Given the description of an element on the screen output the (x, y) to click on. 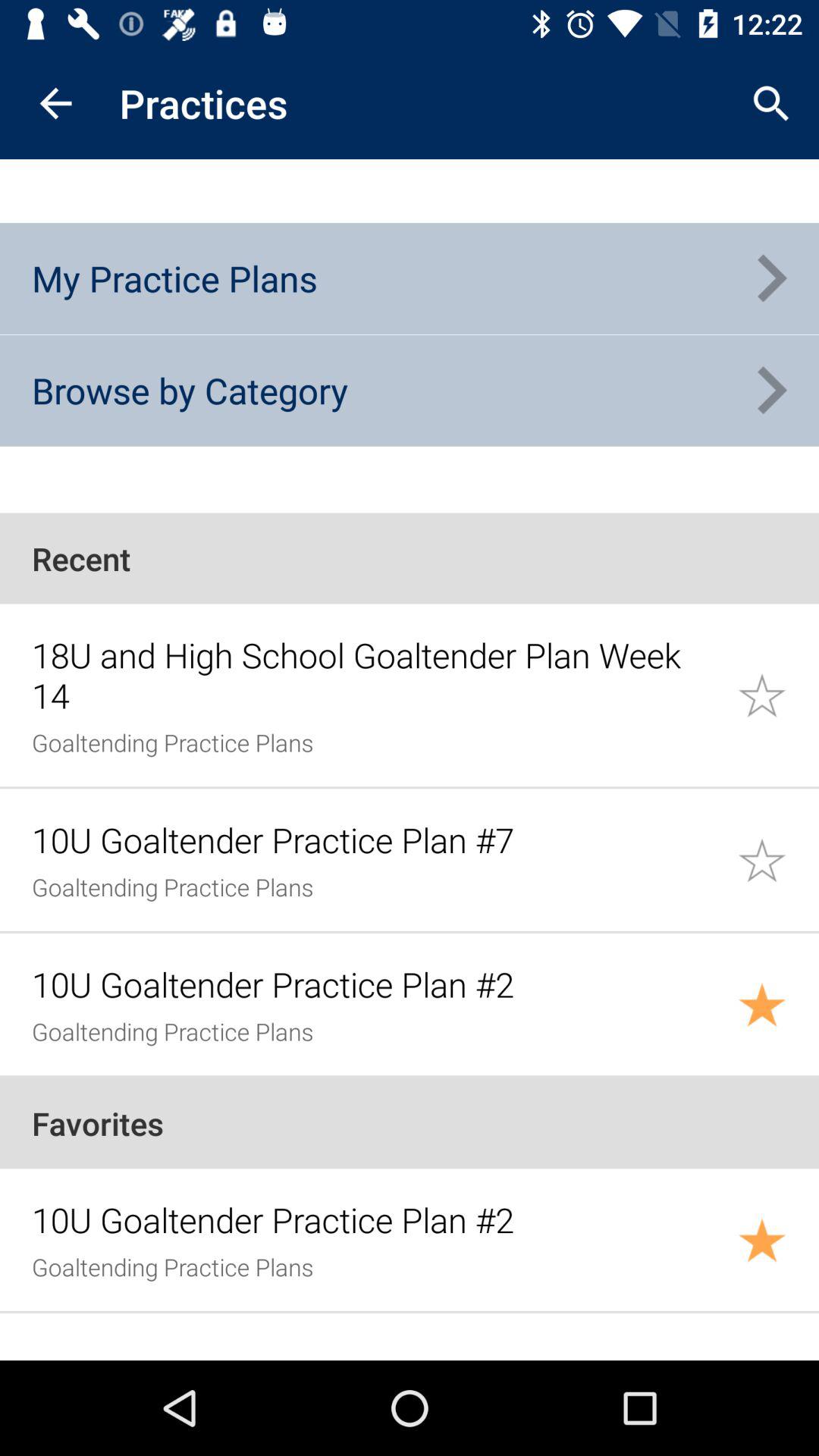
launch the app to the right of the practices (771, 103)
